Given the description of an element on the screen output the (x, y) to click on. 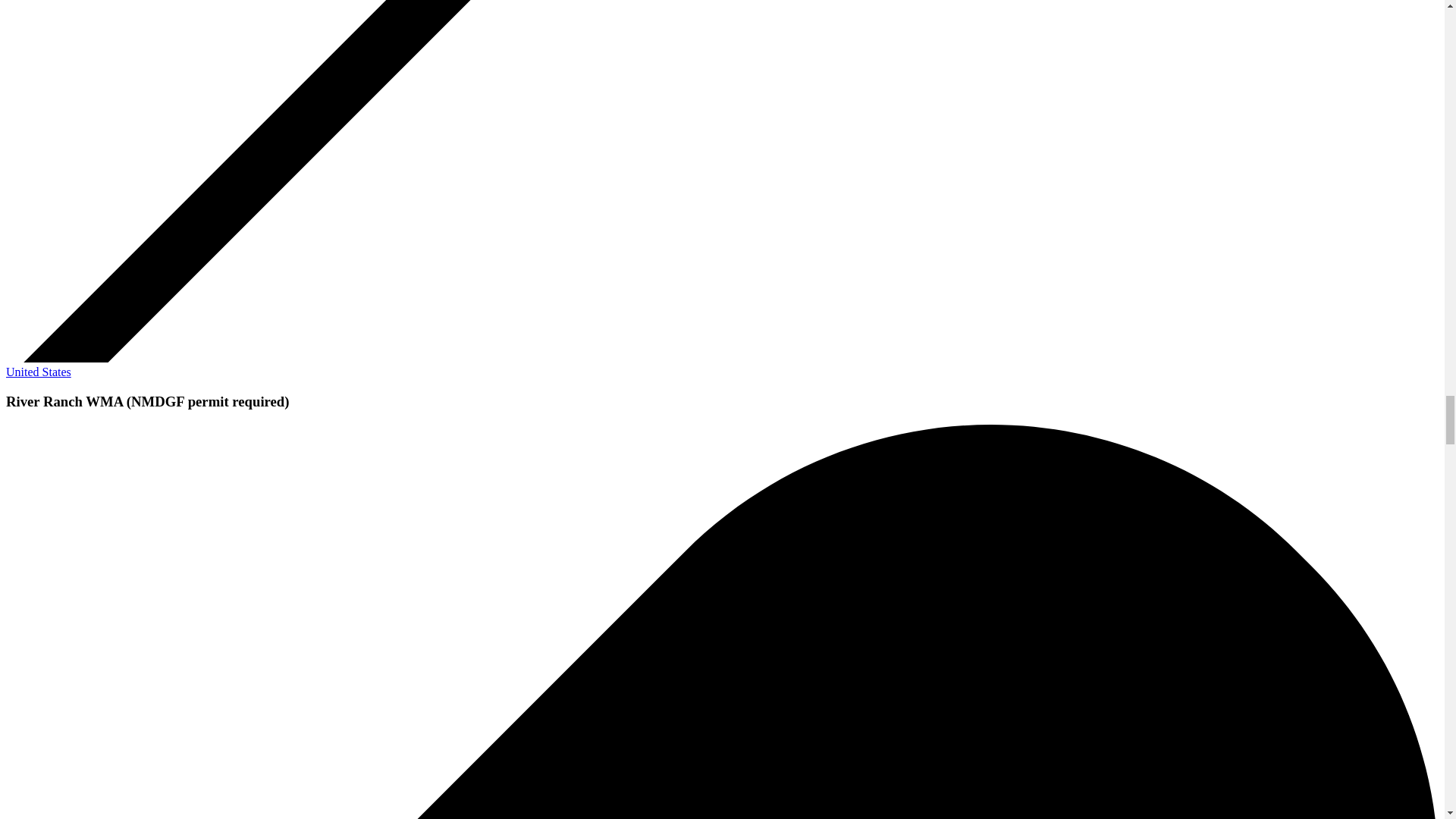
United States (38, 371)
